Given the description of an element on the screen output the (x, y) to click on. 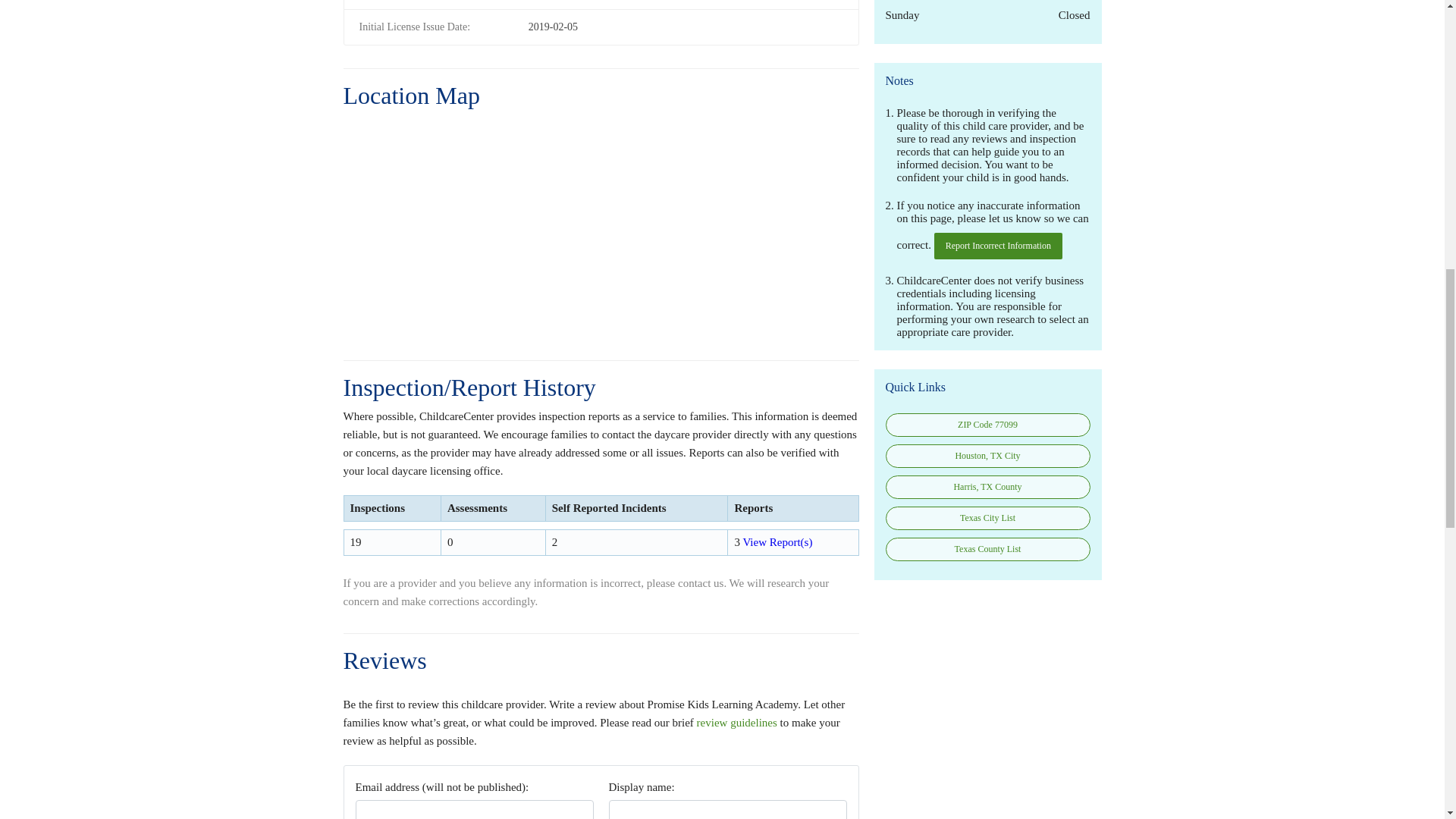
Texas City List (987, 517)
Texas County List (987, 549)
ZIP Code 77099 (987, 424)
review guidelines (737, 722)
Harris, TX County (987, 486)
Houston, TX City (987, 455)
Report Incorrect Information (998, 245)
